Given the description of an element on the screen output the (x, y) to click on. 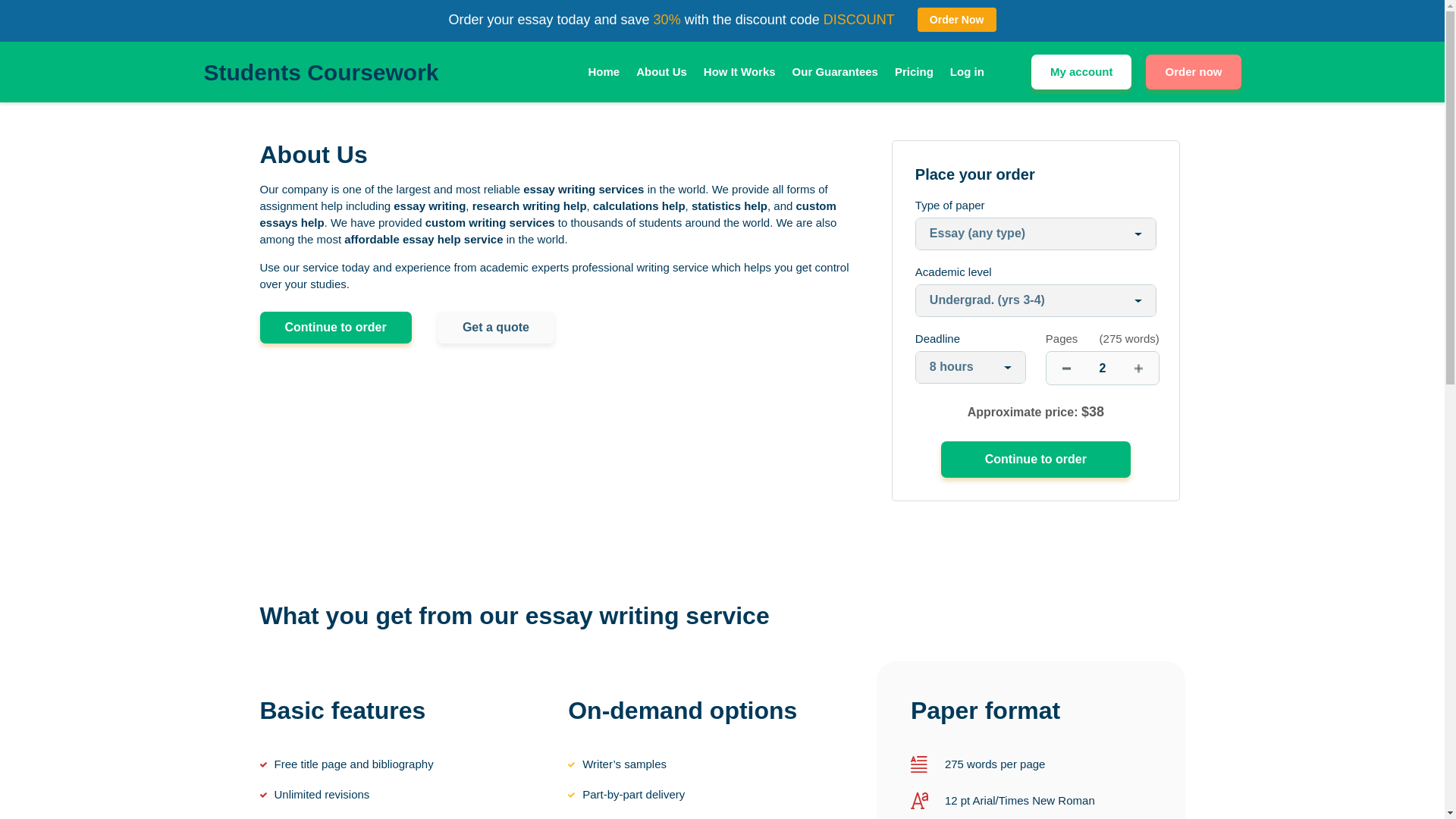
Log in (967, 72)
Order Now (956, 19)
Get a quote (496, 327)
Order Now (956, 19)
2 (1102, 368)
Continue to order (1035, 459)
How It Works (739, 72)
Students Coursework (320, 71)
About Us (661, 72)
Home (604, 72)
Order now (1192, 71)
Our Guarantees (834, 72)
My account (1081, 71)
Continue to order (334, 327)
Continue to order (1035, 459)
